Given the description of an element on the screen output the (x, y) to click on. 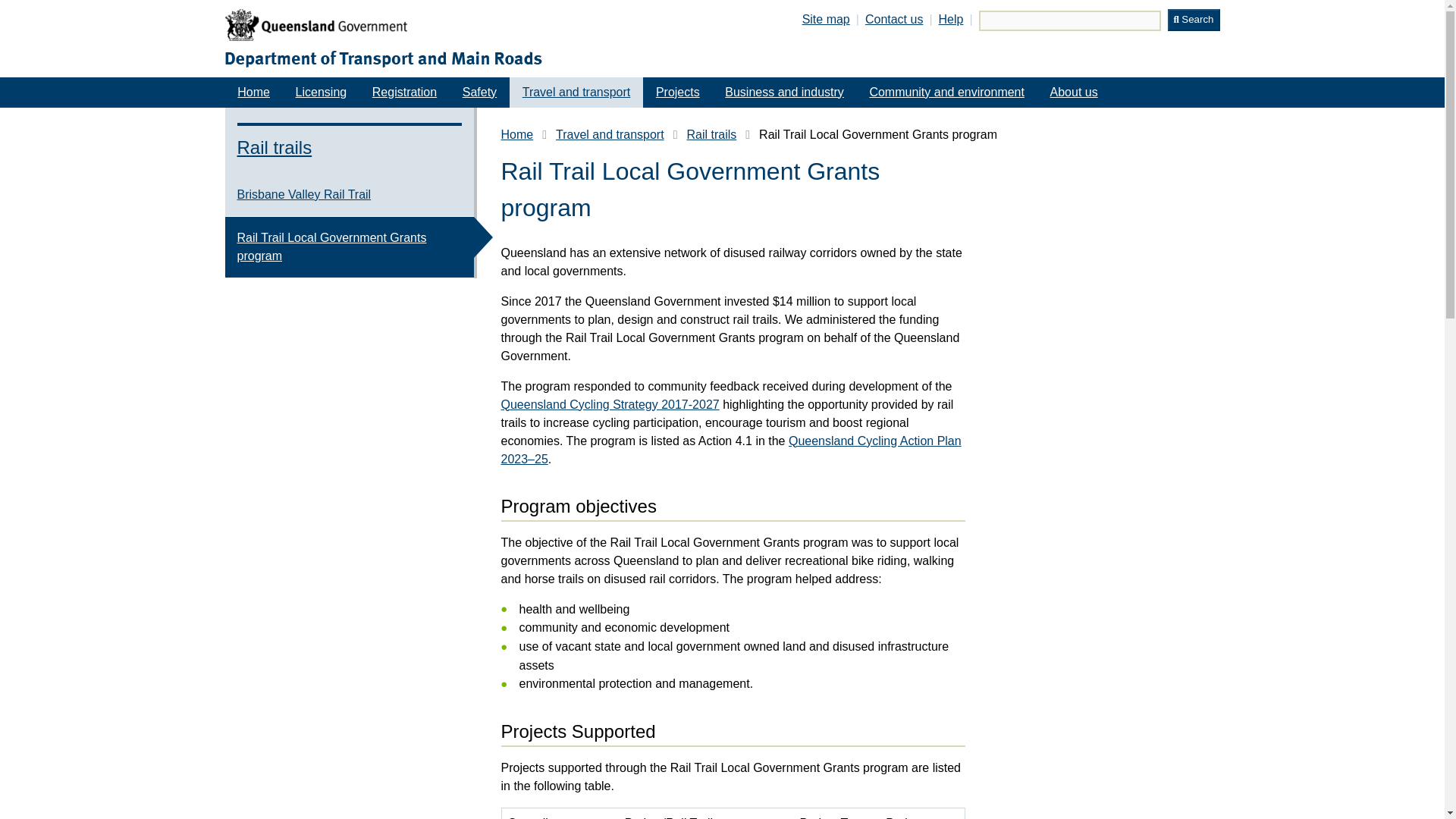
Rail trails (348, 141)
Community and environment (947, 91)
Travel and transport (576, 91)
Search (1193, 20)
Licensing (321, 91)
Queensland Cycling Strategy 2017-2027 (609, 404)
Site map (826, 19)
Rail trails (710, 135)
Home (516, 135)
Brisbane Valley Rail Trail (348, 194)
Current section (576, 91)
About us (1073, 91)
Registration (404, 91)
Contact us (893, 19)
Rail Trail Local Government Grants program (348, 247)
